Given the description of an element on the screen output the (x, y) to click on. 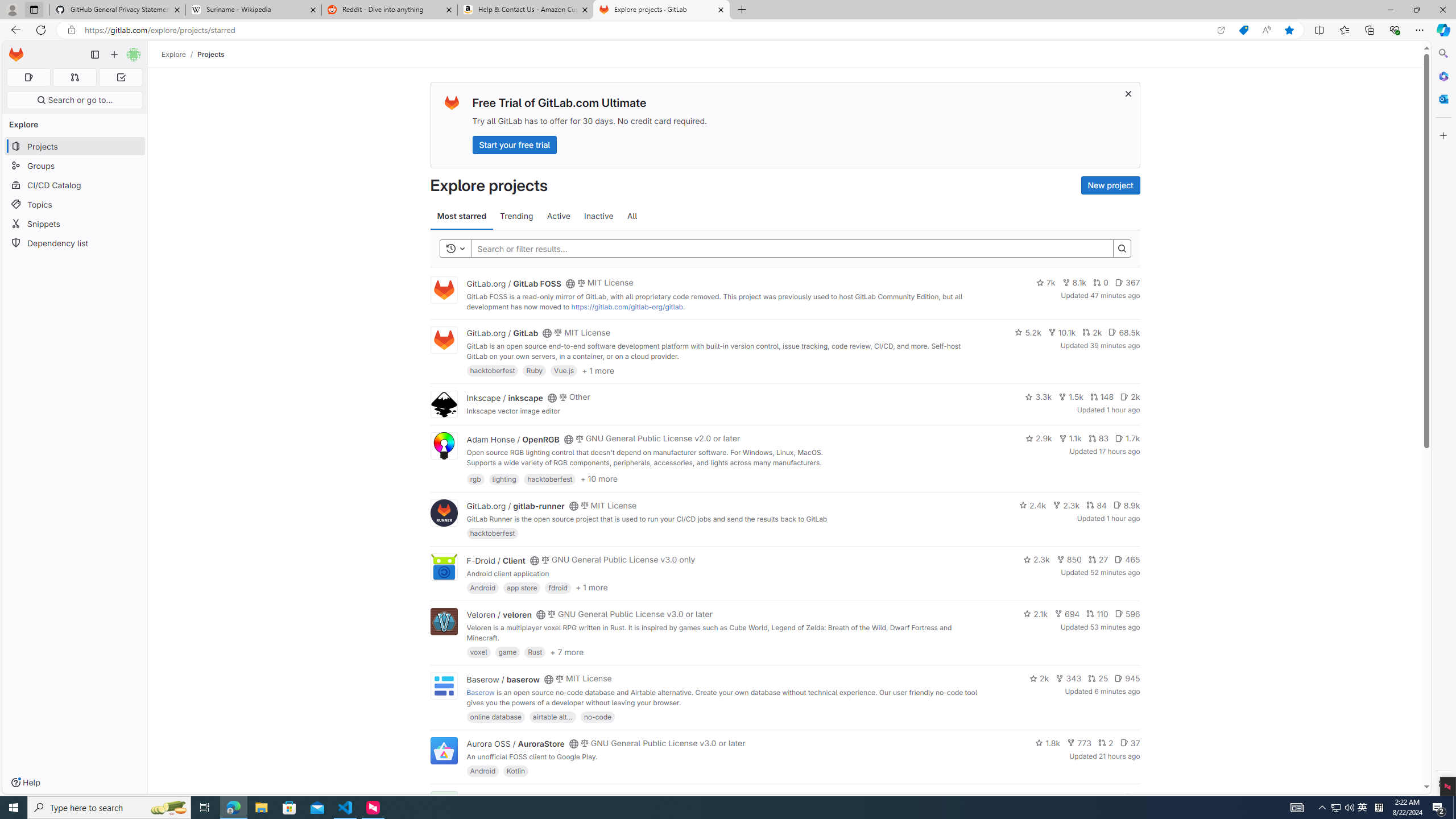
2.4k (1032, 504)
7k (1045, 282)
Class: project (443, 750)
GitHub General Privacy Statement - GitHub Docs (117, 9)
Merge requests 0 (74, 76)
694 (1067, 613)
1 (1111, 797)
